Given the description of an element on the screen output the (x, y) to click on. 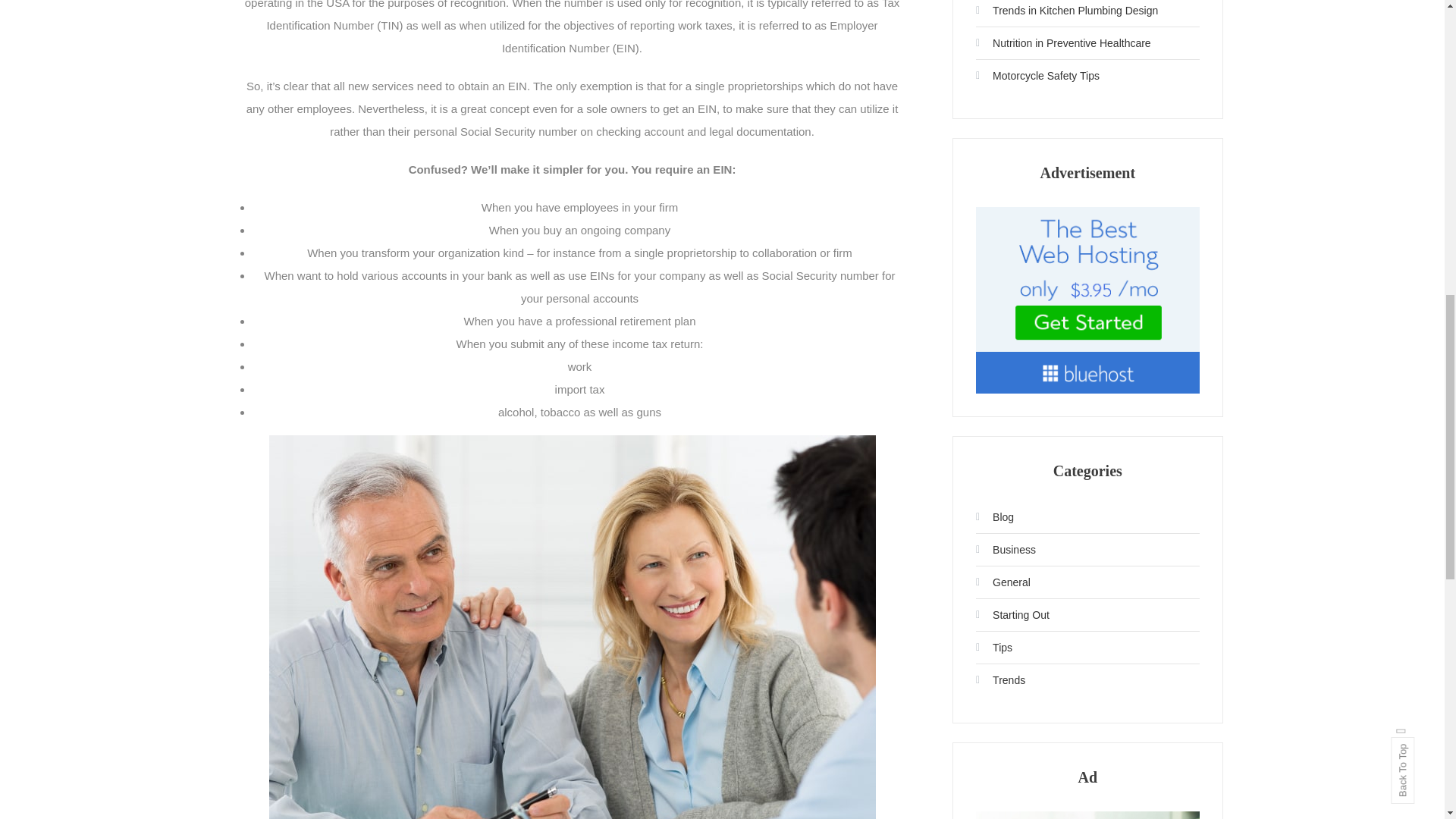
Motorcycle Safety Tips (1037, 75)
Business (1005, 549)
Blog (994, 517)
Nutrition in Preventive Healthcare (1063, 43)
Trends in Kitchen Plumbing Design (1066, 11)
